Given the description of an element on the screen output the (x, y) to click on. 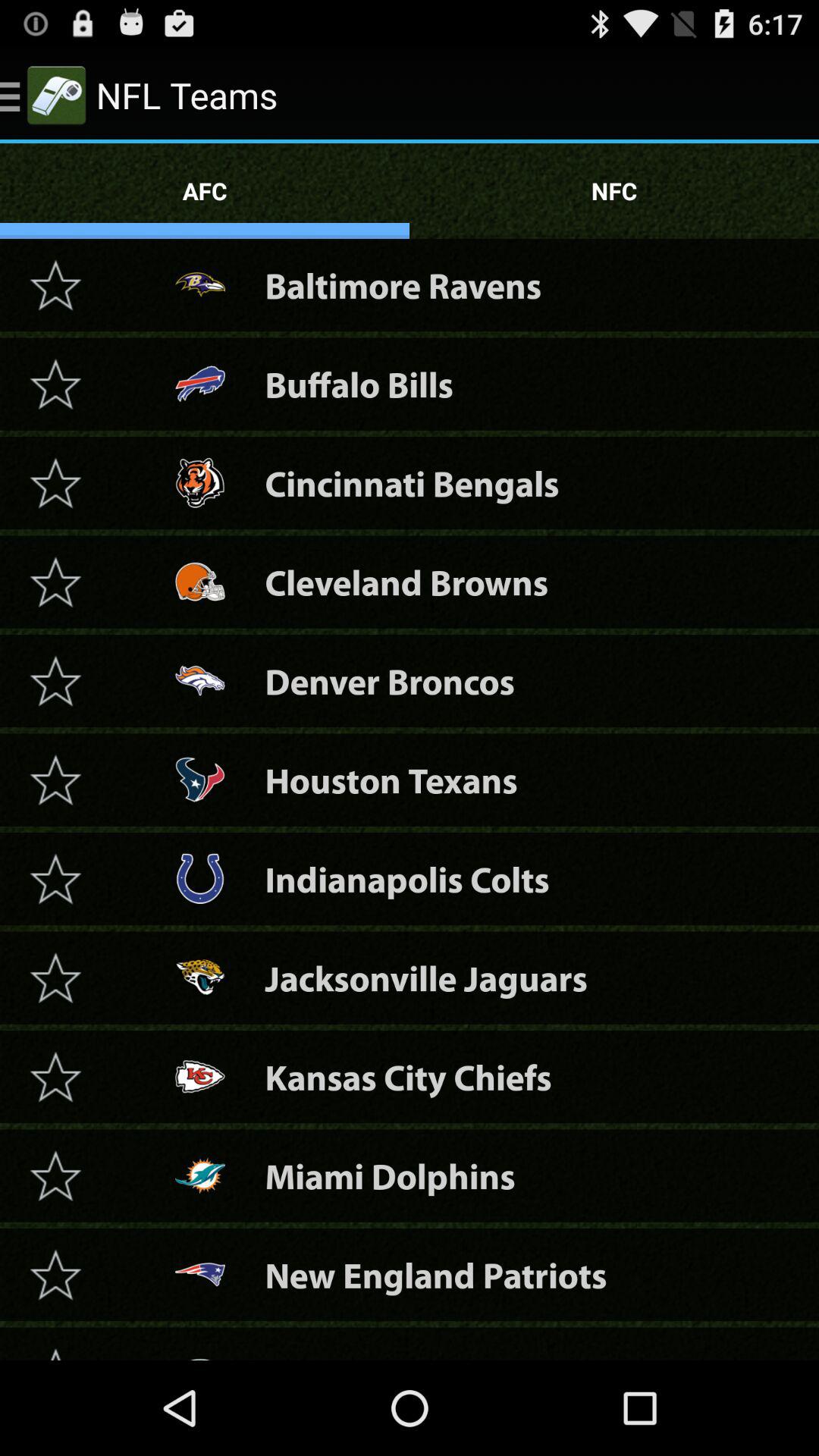
add to favorites (55, 779)
